Given the description of an element on the screen output the (x, y) to click on. 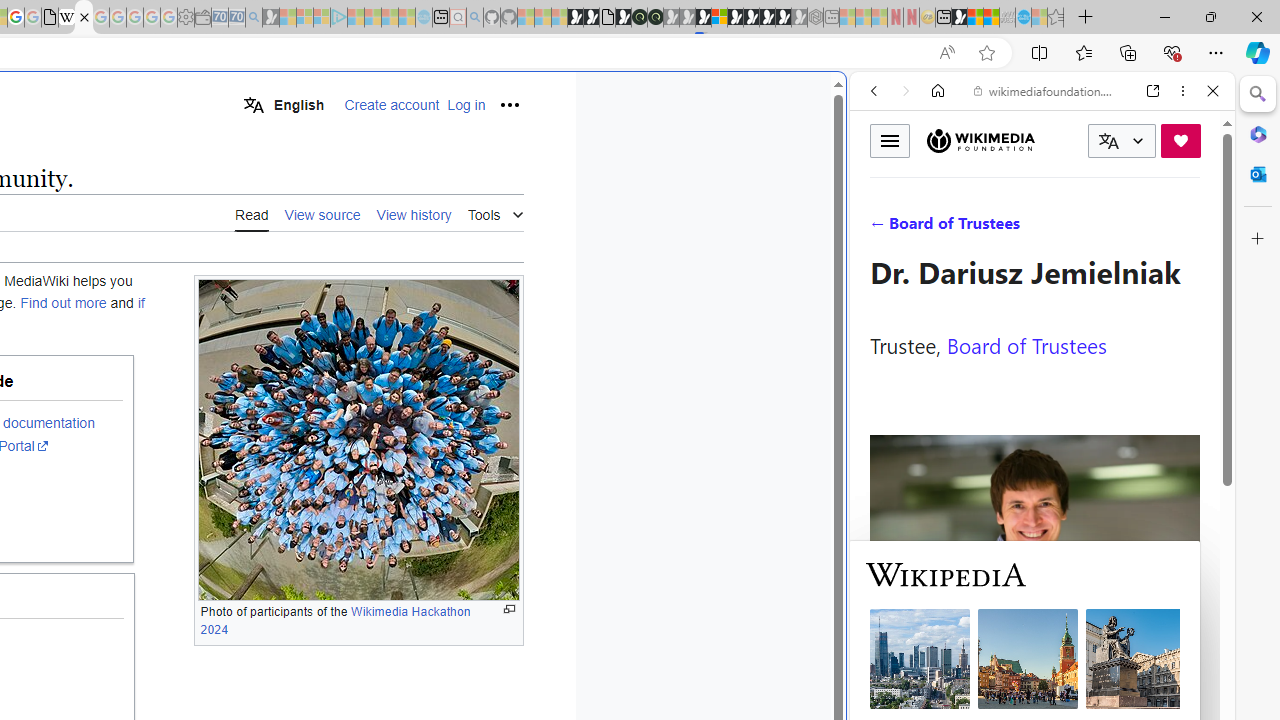
Microsoft account | Privacy - Sleeping (321, 17)
Read (251, 213)
Microsoft Start - Sleeping (389, 17)
Settings - Sleeping (185, 17)
